Given the description of an element on the screen output the (x, y) to click on. 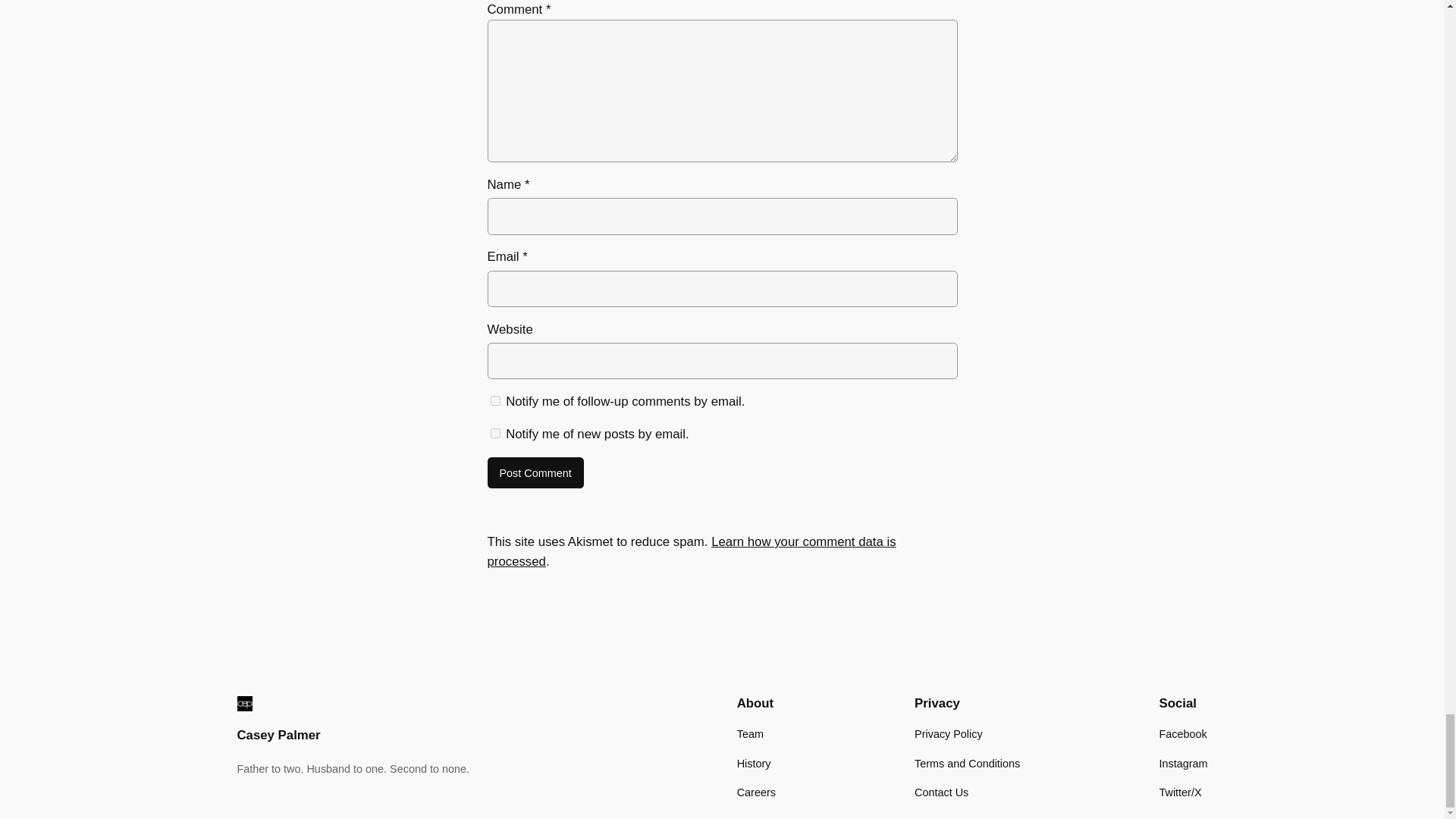
subscribe (494, 400)
Post Comment (534, 472)
subscribe (494, 433)
